Given the description of an element on the screen output the (x, y) to click on. 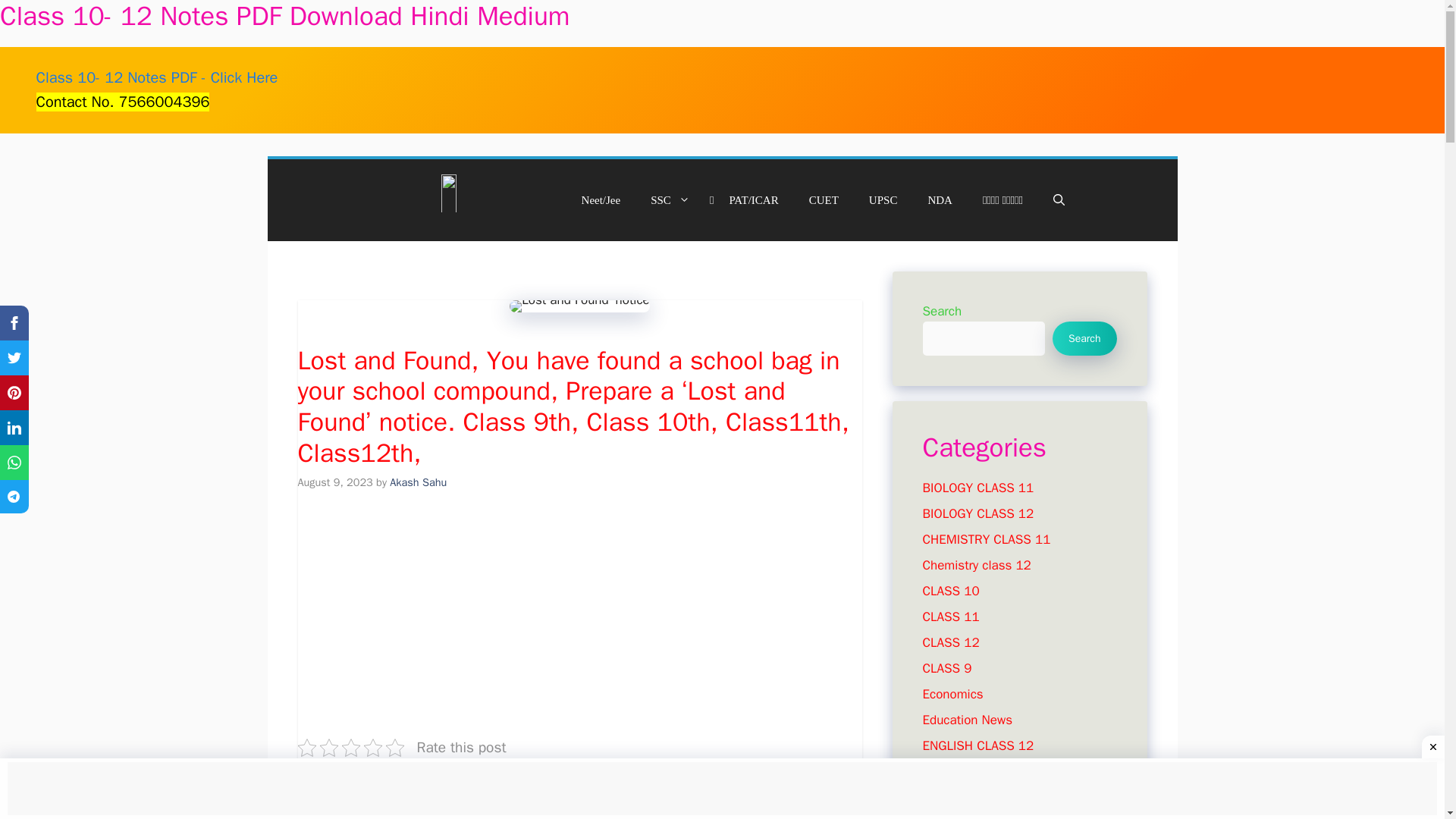
SSC (673, 199)
Advertisement (578, 604)
CUET (823, 199)
View all posts by Akash Sahu (418, 481)
NDA (940, 199)
Class 10- 12 Notes PDF - Click Here (157, 76)
Akash Sahu (418, 481)
UPSC (882, 199)
